Given the description of an element on the screen output the (x, y) to click on. 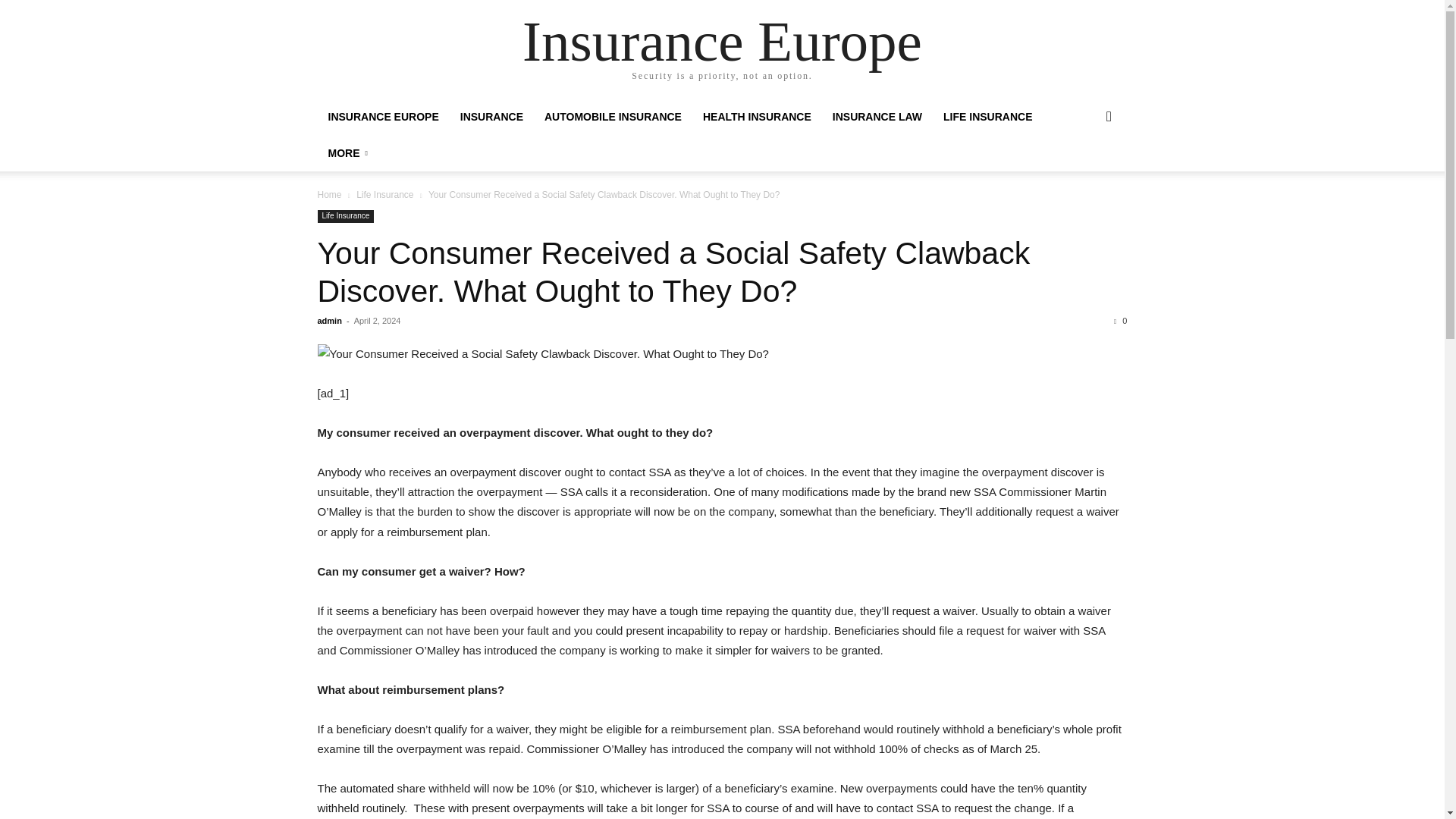
View all posts in Life Insurance (384, 194)
MORE (347, 152)
LIFE INSURANCE (987, 116)
HEALTH INSURANCE (757, 116)
Insurance Europe (721, 41)
Life Insurance (384, 194)
admin (328, 320)
0 (1119, 320)
INSURANCE (491, 116)
Search (1085, 177)
Home (328, 194)
INSURANCE EUROPE (382, 116)
